Given the description of an element on the screen output the (x, y) to click on. 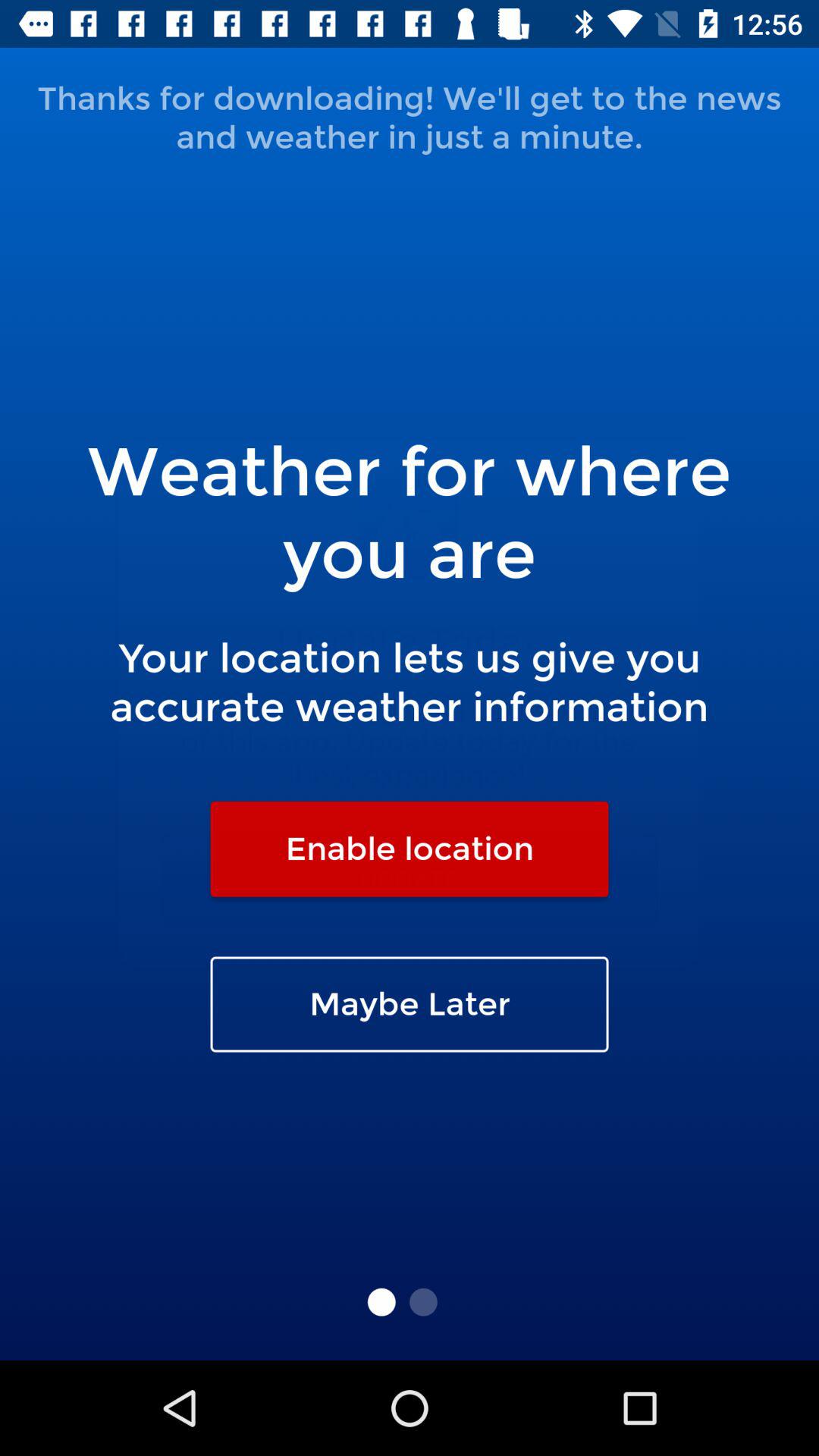
click the maybe later (409, 1004)
